Given the description of an element on the screen output the (x, y) to click on. 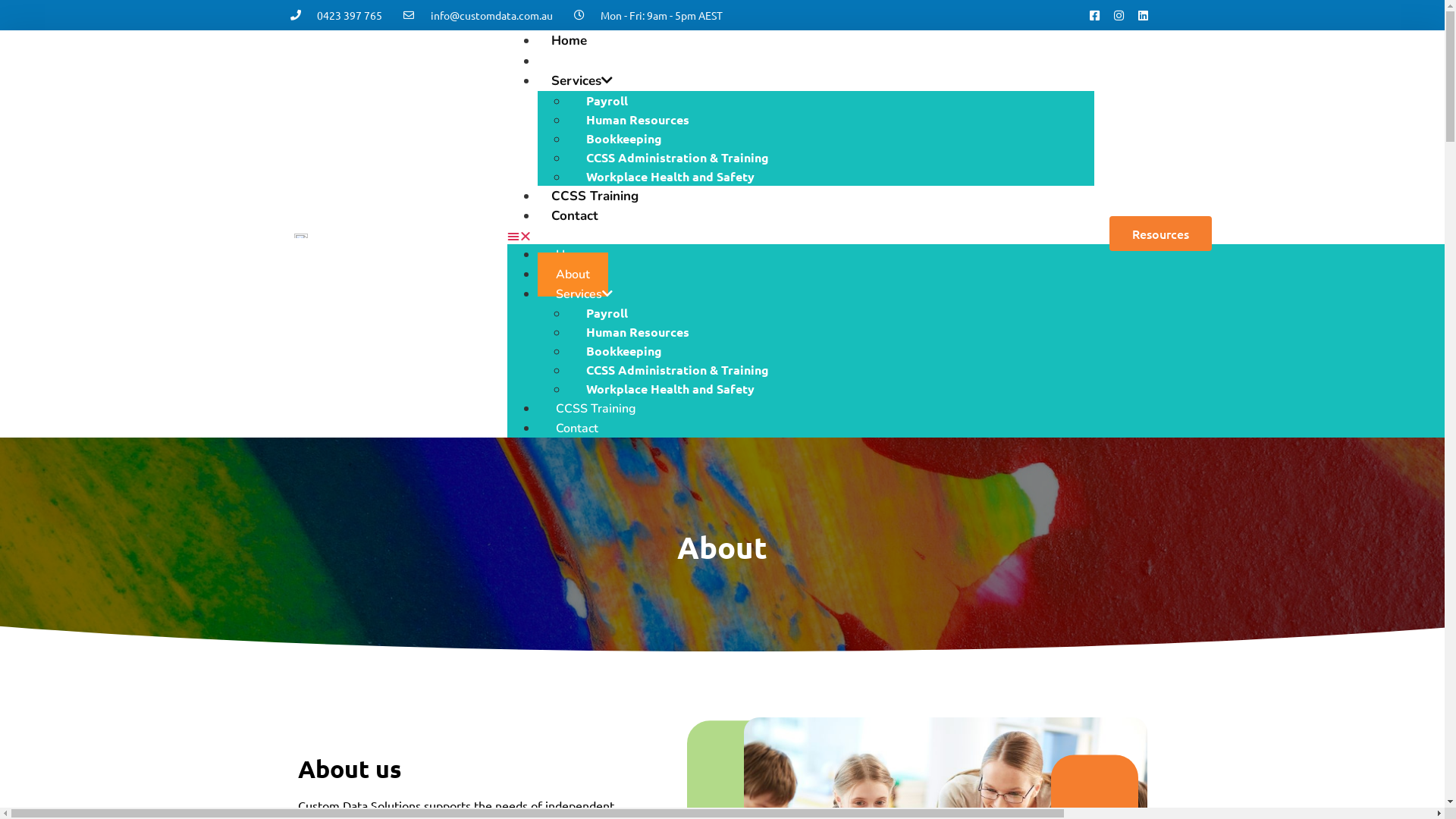
Payroll Element type: text (606, 312)
Workplace Health and Safety Element type: text (669, 175)
Services Element type: text (581, 80)
Contact Element type: text (576, 428)
Payroll Element type: text (606, 100)
Human Resources Element type: text (637, 330)
About Element type: text (569, 60)
Human Resources Element type: text (637, 118)
Workplace Health and Safety Element type: text (669, 388)
Bookkeeping Element type: text (623, 350)
About Element type: text (572, 273)
CCSS Administration & Training Element type: text (677, 368)
Contact Element type: text (574, 215)
Services Element type: text (583, 293)
0423 397 765 Element type: text (335, 15)
CCSS Training Element type: text (595, 408)
Bookkeeping Element type: text (623, 138)
info@customdata.com.au Element type: text (477, 15)
Home Element type: text (572, 254)
Home Element type: text (568, 40)
CCSS Administration & Training Element type: text (677, 156)
CCSS Training Element type: text (594, 195)
Resources Element type: text (1160, 233)
